Given the description of an element on the screen output the (x, y) to click on. 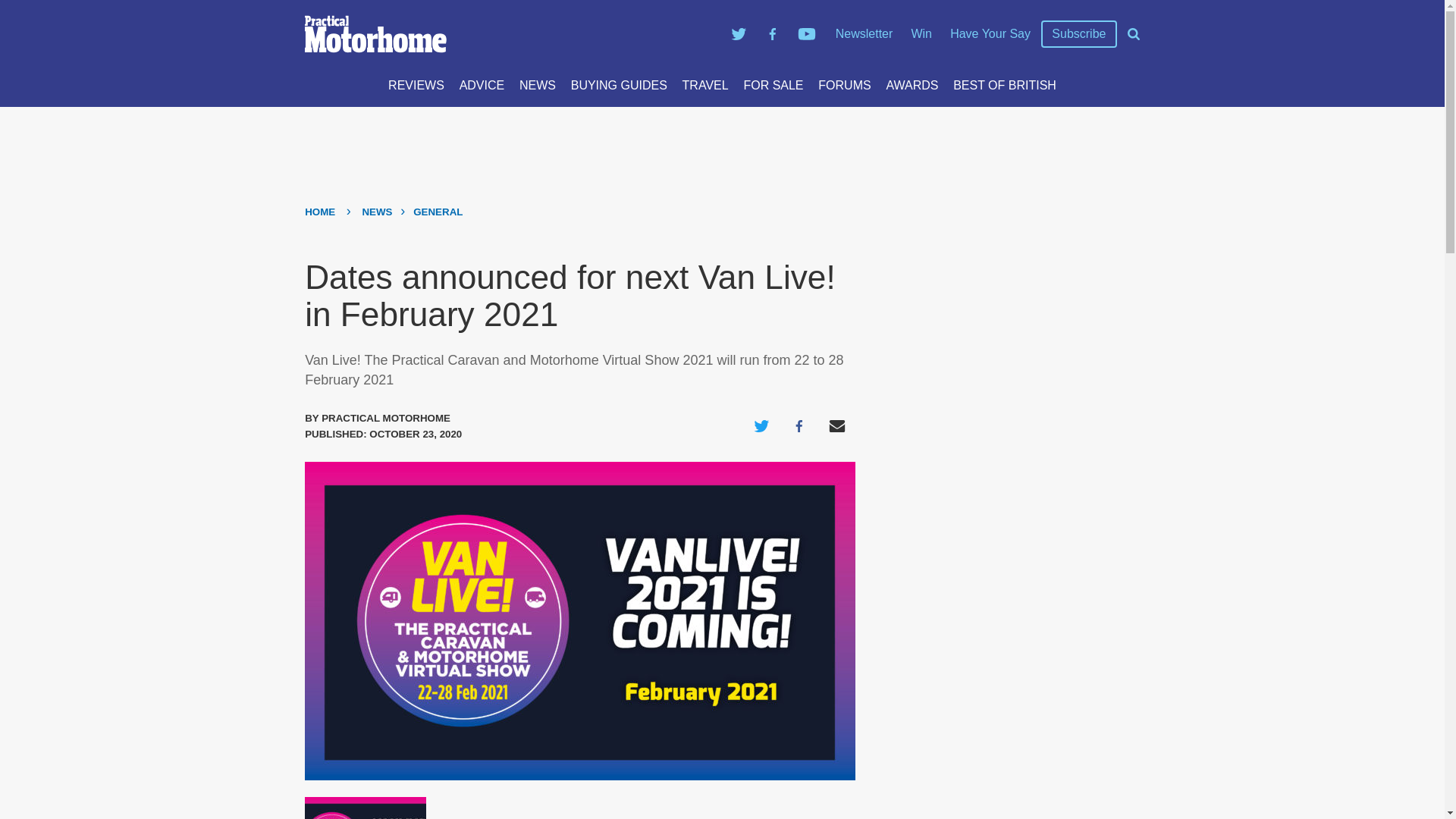
Subscribe (1078, 34)
NEWS (537, 84)
logoCreated with Sketch. (509, 34)
Have Your Say (990, 33)
Newsletter (863, 33)
logoCreated with Sketch. (375, 34)
Share via Email (837, 426)
BUYING GUIDES (618, 84)
REVIEWS (416, 84)
ADVICE (482, 84)
